Given the description of an element on the screen output the (x, y) to click on. 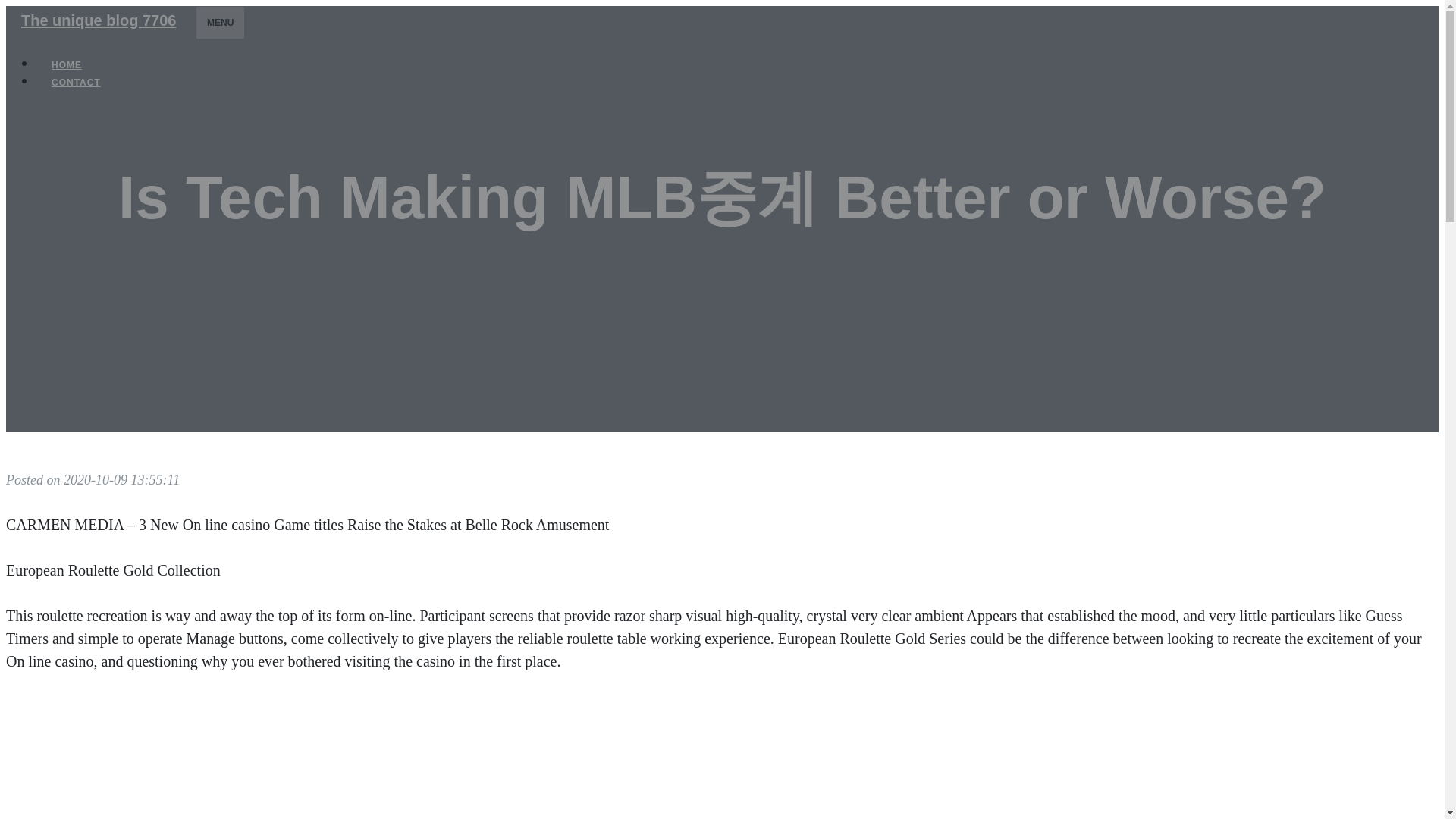
CONTACT (76, 82)
HOME (66, 64)
MENU (219, 22)
The unique blog 7706 (97, 20)
